Given the description of an element on the screen output the (x, y) to click on. 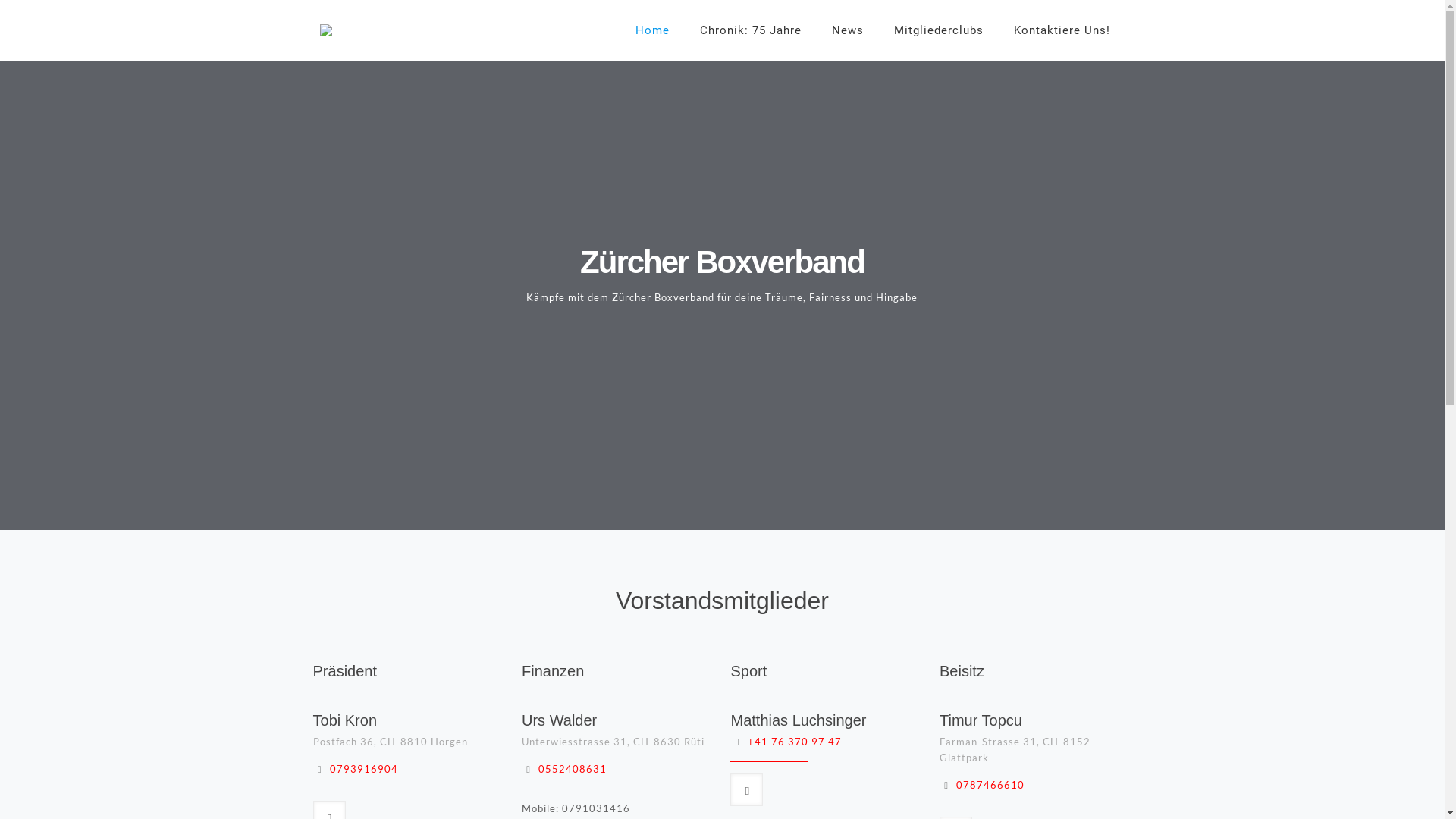
0787466610 Element type: text (990, 784)
+41 76 370 97 47 Element type: text (794, 741)
News Element type: text (846, 30)
Mitgliederclubs Element type: text (937, 30)
0793916904 Element type: text (363, 768)
Home Element type: text (652, 30)
Chronik: 75 Jahre Element type: text (749, 30)
0552408631 Element type: text (572, 768)
Kontaktiere Uns! Element type: text (1060, 30)
